Given the description of an element on the screen output the (x, y) to click on. 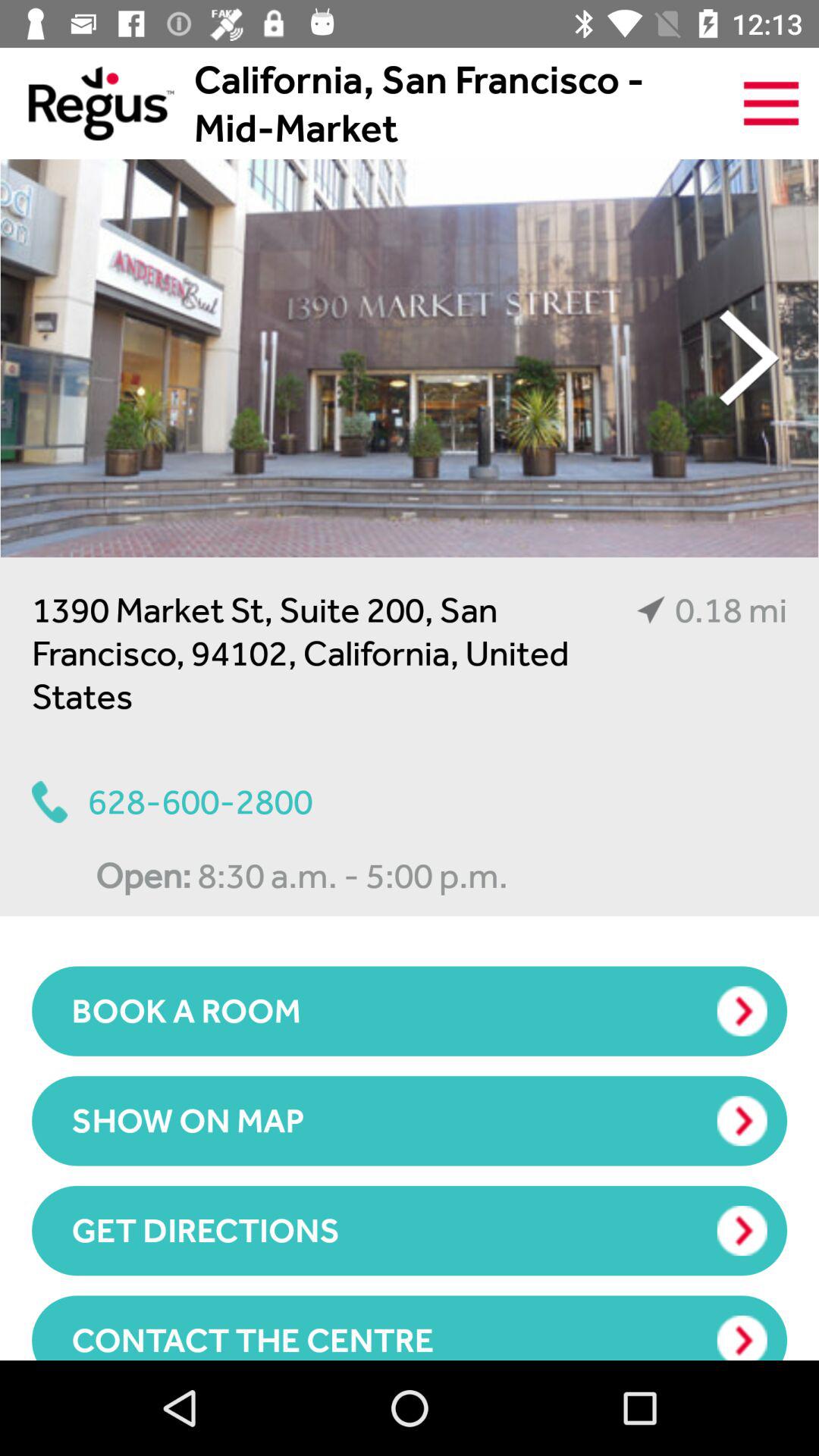
open the icon below the 1390 market st (171, 801)
